Given the description of an element on the screen output the (x, y) to click on. 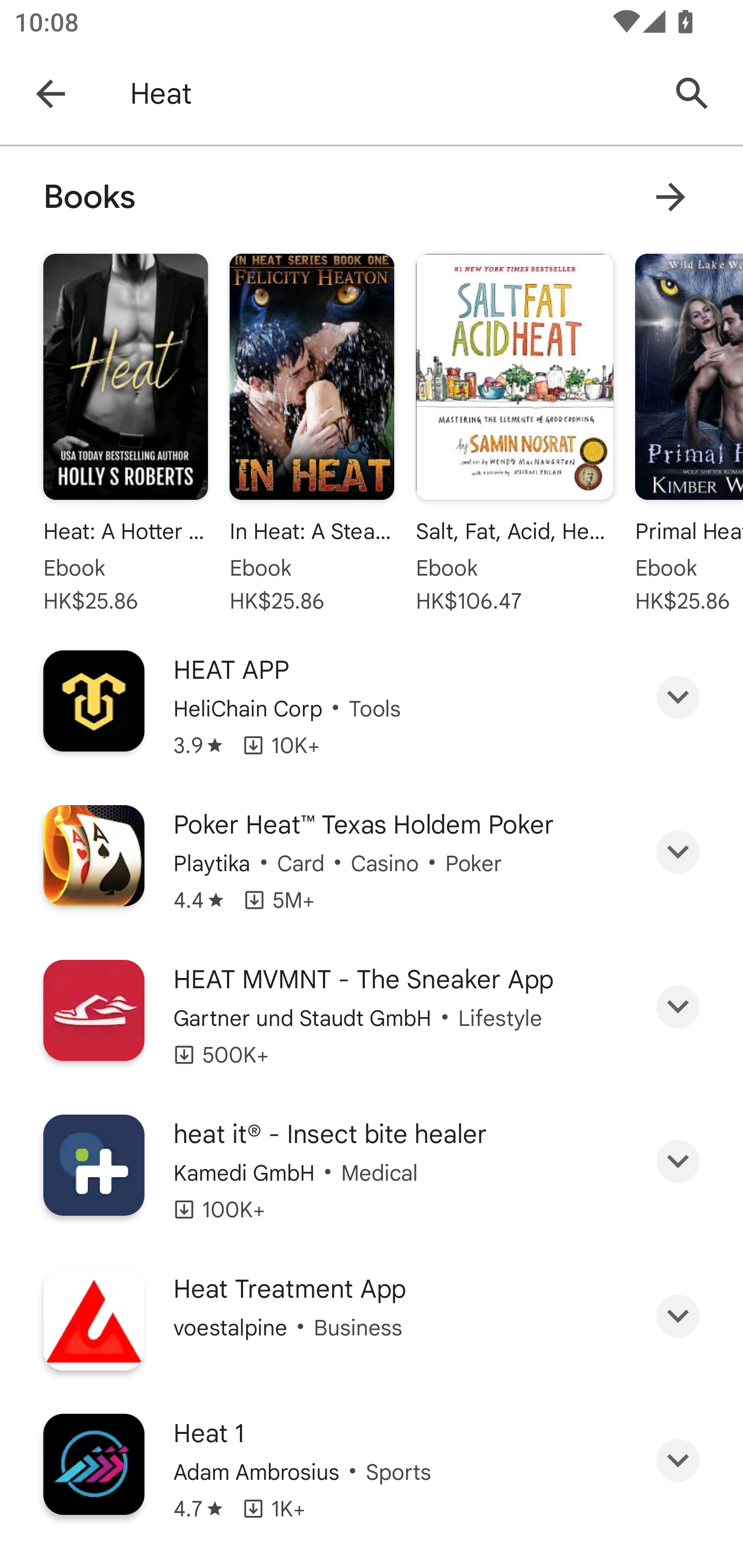
Heat (389, 93)
Navigate up (50, 93)
Search Google Play (692, 93)
Books More results for Books (371, 196)
More results for Books (670, 196)
Expand content for HEAT APP (677, 696)
Expand content for Poker Heat™ Texas Holdem Poker (677, 852)
Expand content for HEAT MVMNT - The Sneaker App (677, 1006)
Expand content for heat it® - Insect bite healer (677, 1160)
Expand content for Heat Treatment App (677, 1316)
Expand content for Heat 1 (677, 1460)
